Given the description of an element on the screen output the (x, y) to click on. 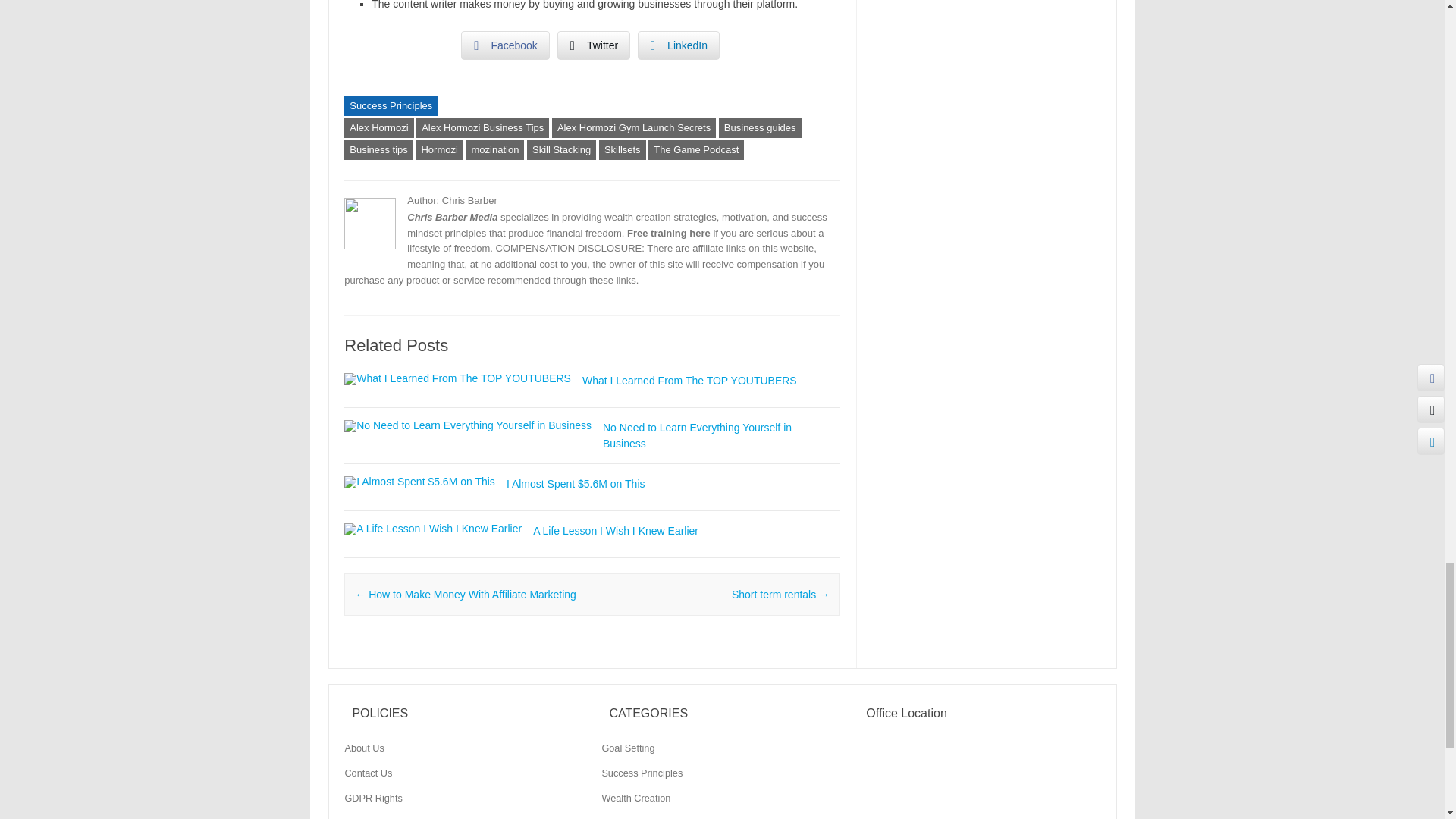
Free training here (668, 233)
Twitter (593, 45)
Hormozi (438, 149)
What I Learned From The TOP YOUTUBERS (456, 378)
A Life Lesson I Wish I Knew Earlier (432, 528)
Business tips (378, 149)
No Need to Learn Everything Yourself in Business (697, 435)
mozination (494, 149)
Success Principles (390, 106)
Business guides (760, 127)
What I Learned From The TOP YOUTUBERS (689, 380)
Skill Stacking (561, 149)
What I Learned From The TOP YOUTUBERS (689, 380)
Facebook (504, 45)
No Need to Learn Everything Yourself in Business (697, 435)
